Given the description of an element on the screen output the (x, y) to click on. 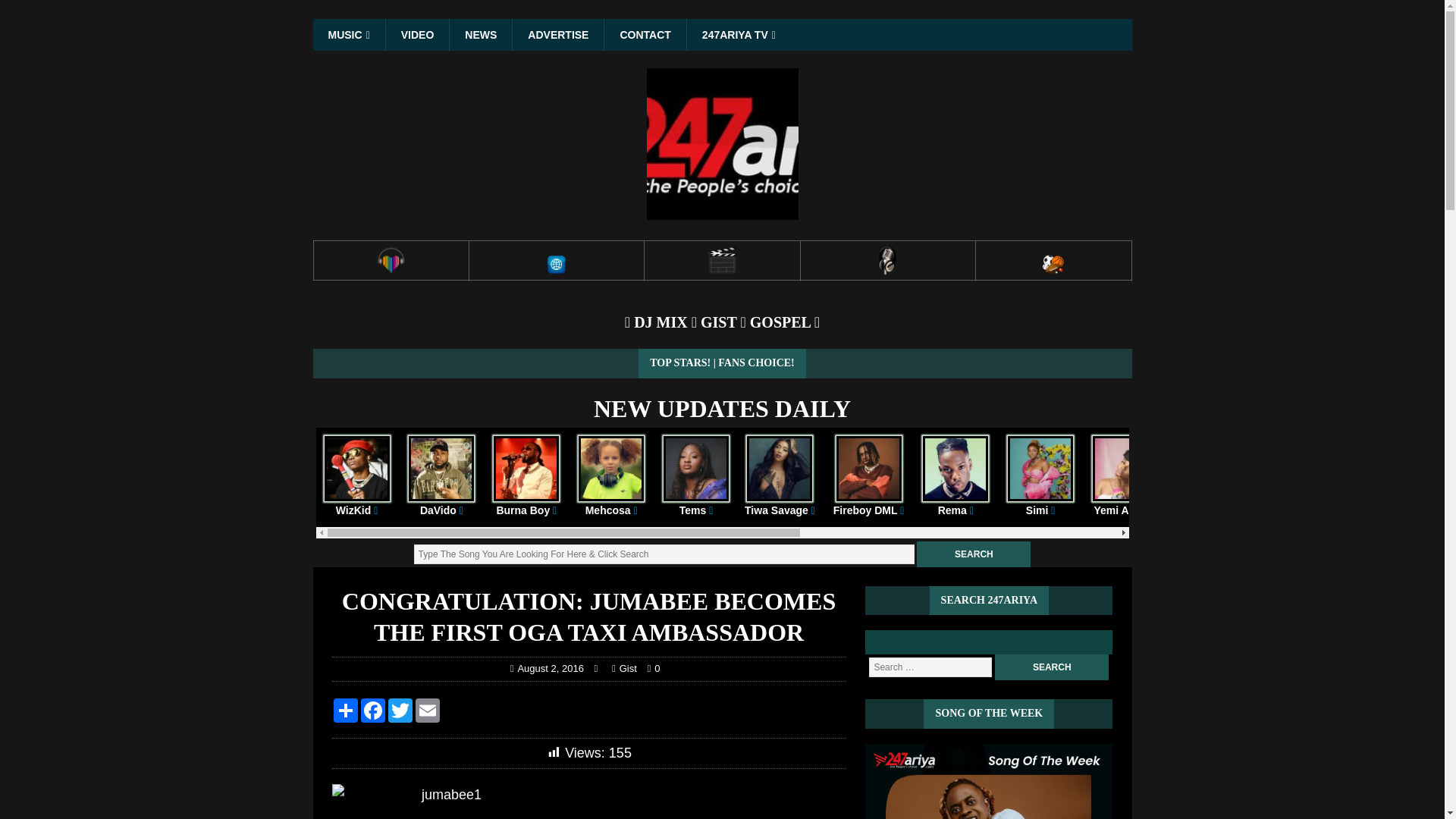
Song Of The Week (988, 781)
247ARIYA TV (737, 34)
CONTACT (644, 34)
VIDEO (417, 34)
ADVERTISE (558, 34)
Search (1051, 667)
MUSIC (348, 34)
Search (973, 554)
Search (1051, 667)
NEWS (480, 34)
